Given the description of an element on the screen output the (x, y) to click on. 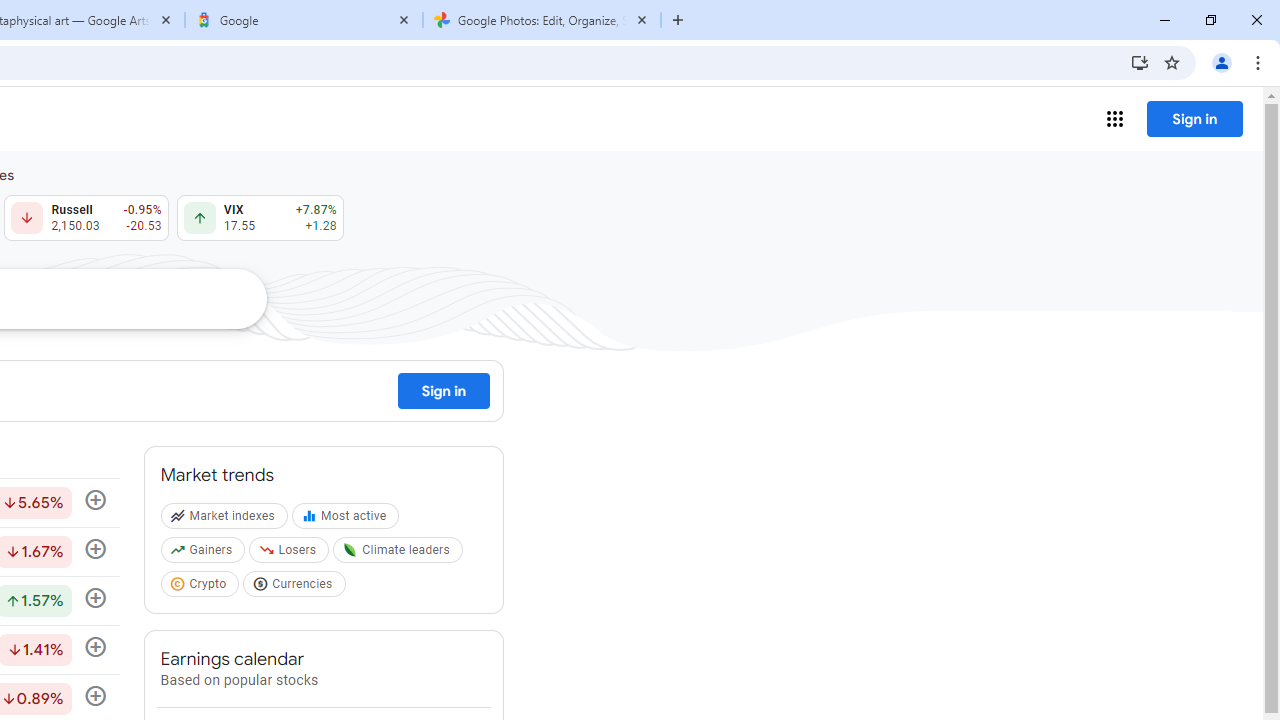
Currencies (296, 587)
Russell 2,150.03 Down by 0.95% -20.53 (85, 218)
Crypto (202, 587)
Google (304, 20)
Install Google Finance (1139, 62)
Losers (291, 553)
GLeaf logo Climate leaders (399, 553)
Most active (347, 520)
